Given the description of an element on the screen output the (x, y) to click on. 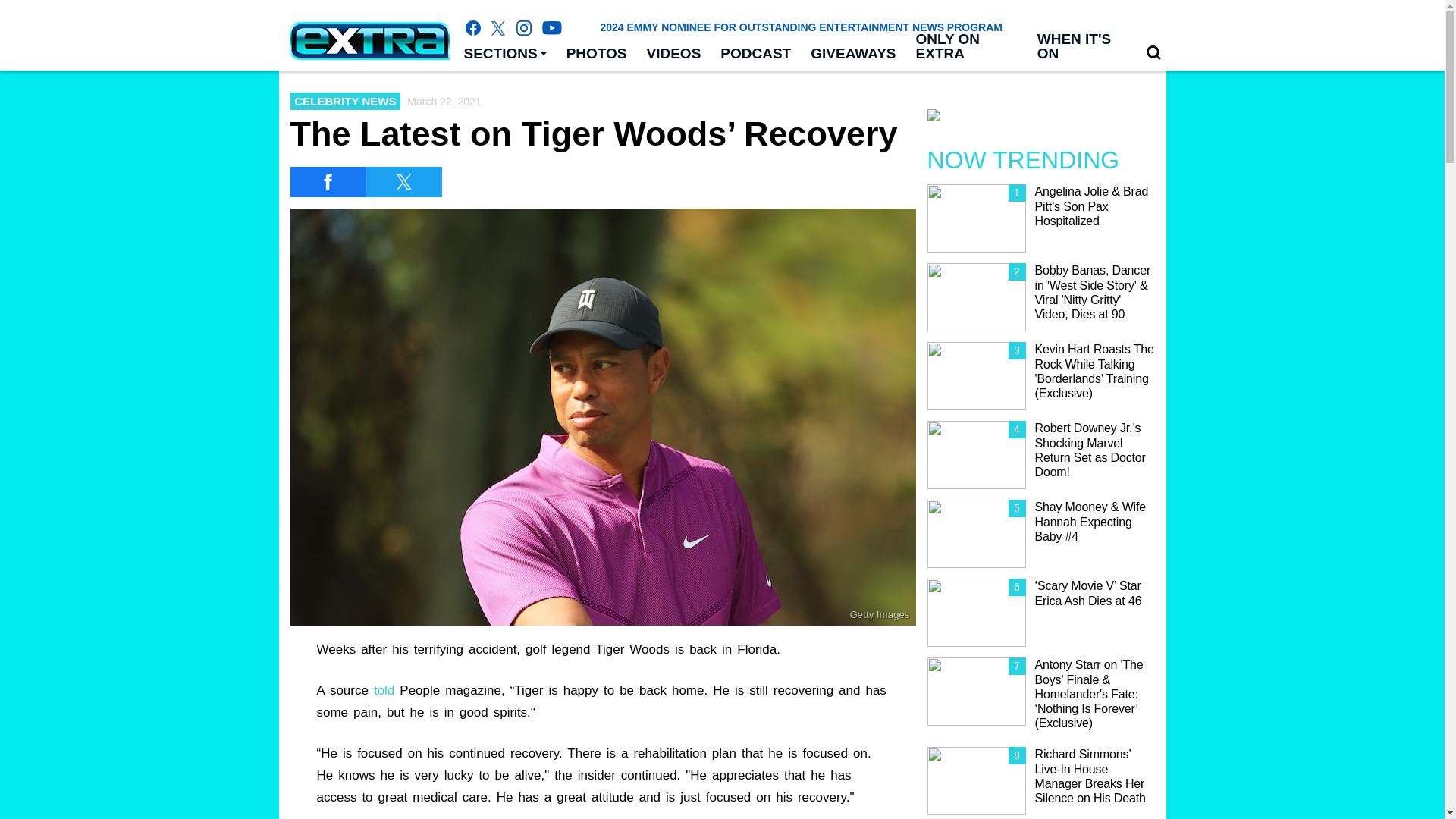
GIVEAWAYS (852, 54)
PODCAST (755, 54)
WHEN IT'S ON (1080, 47)
Search (1153, 52)
PHOTOS (596, 54)
CELEBRITY NEWS (344, 100)
SECTIONS (504, 54)
ONLY ON EXTRA (966, 47)
Search (1153, 53)
VIDEOS (674, 54)
